Given the description of an element on the screen output the (x, y) to click on. 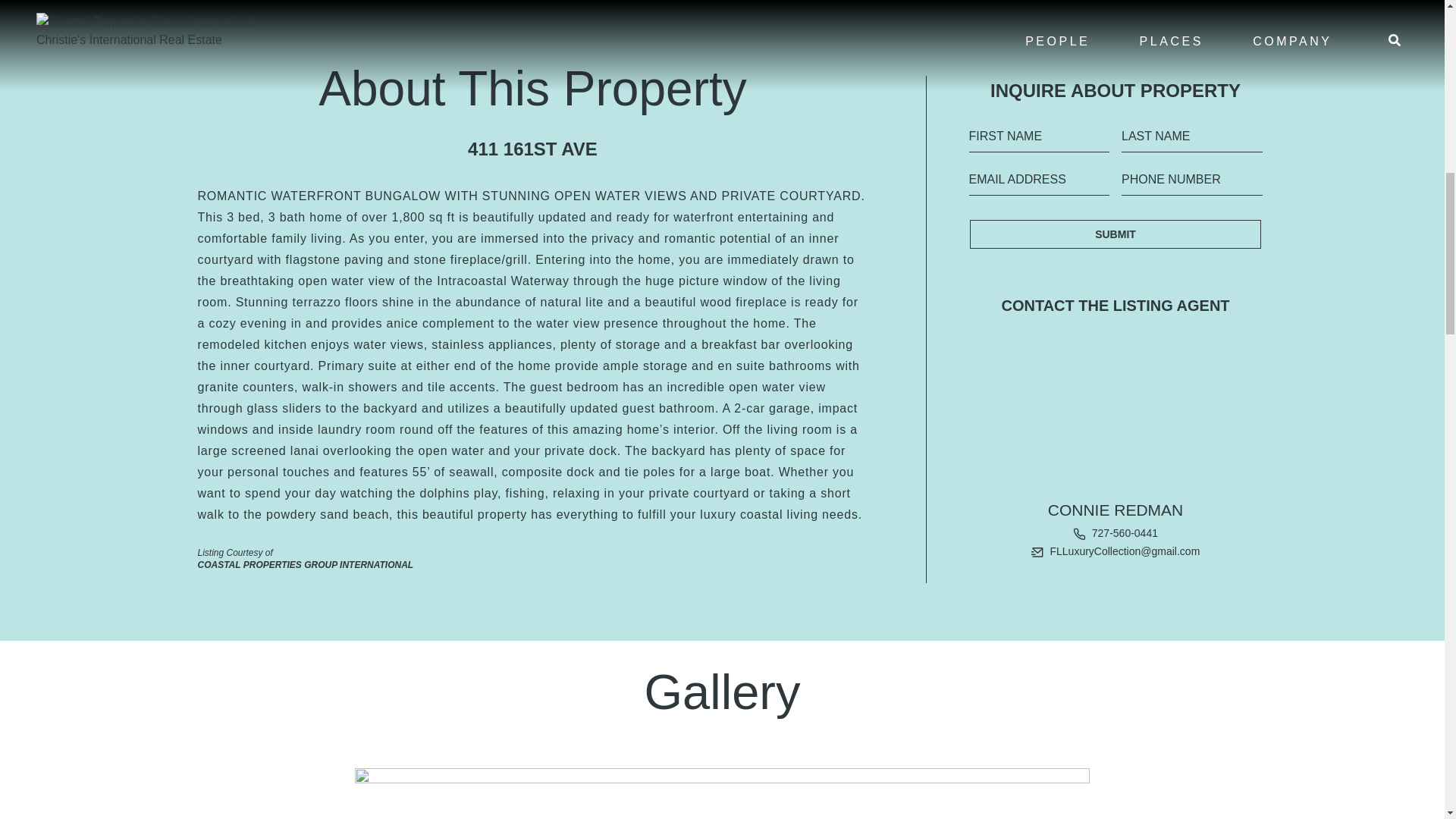
SUBMIT (1114, 234)
CONNIE REDMAN (1115, 509)
Connie Redman (1115, 509)
Connie Redman (1115, 413)
